Given the description of an element on the screen output the (x, y) to click on. 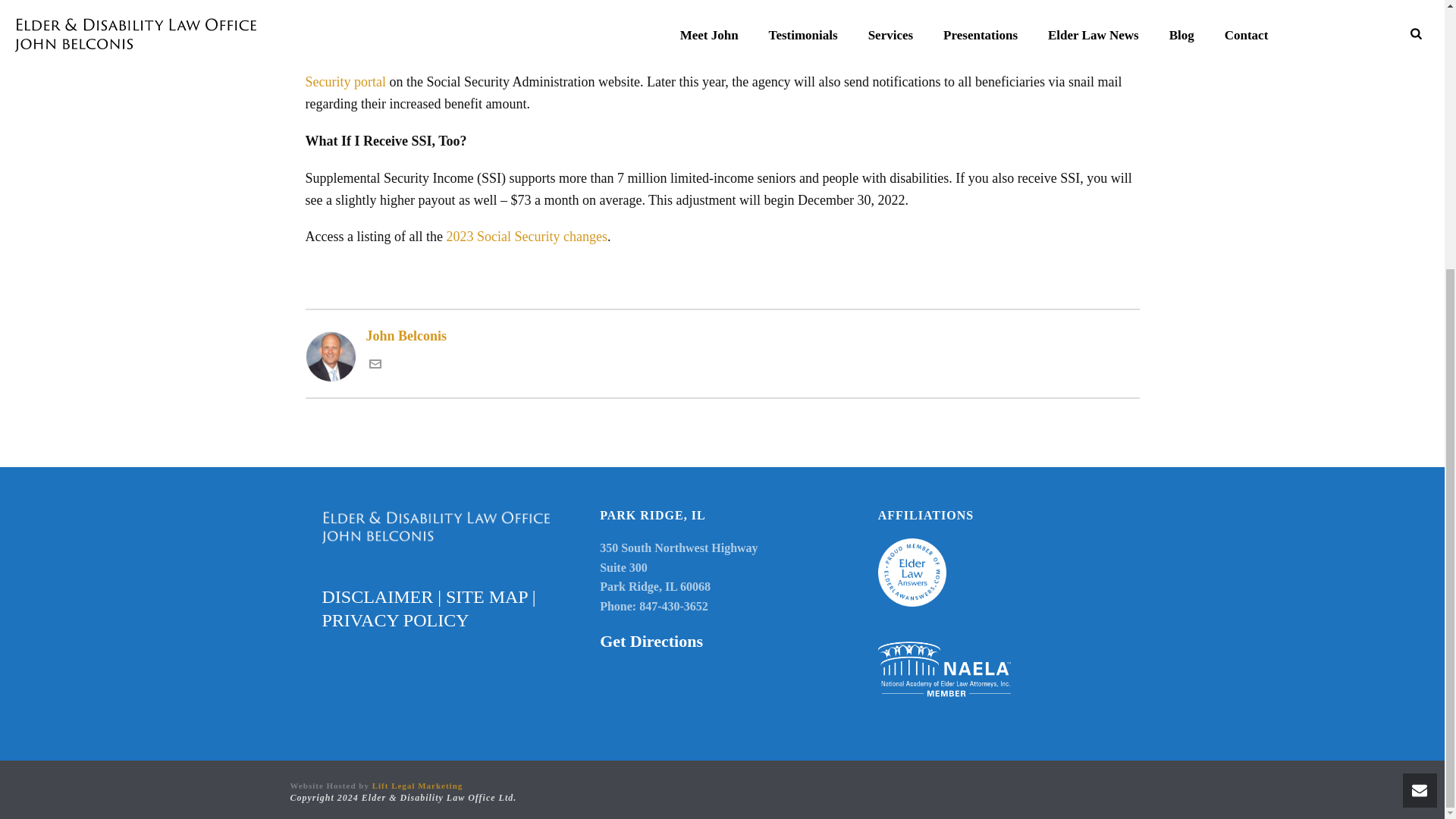
John Belconis (721, 336)
SITE MAP (486, 596)
Lift Legal Marketing (417, 785)
PRIVACY POLICY (394, 619)
2023 Social Security changes (526, 236)
Get Directions (651, 640)
My Social Security portal (697, 71)
